Given the description of an element on the screen output the (x, y) to click on. 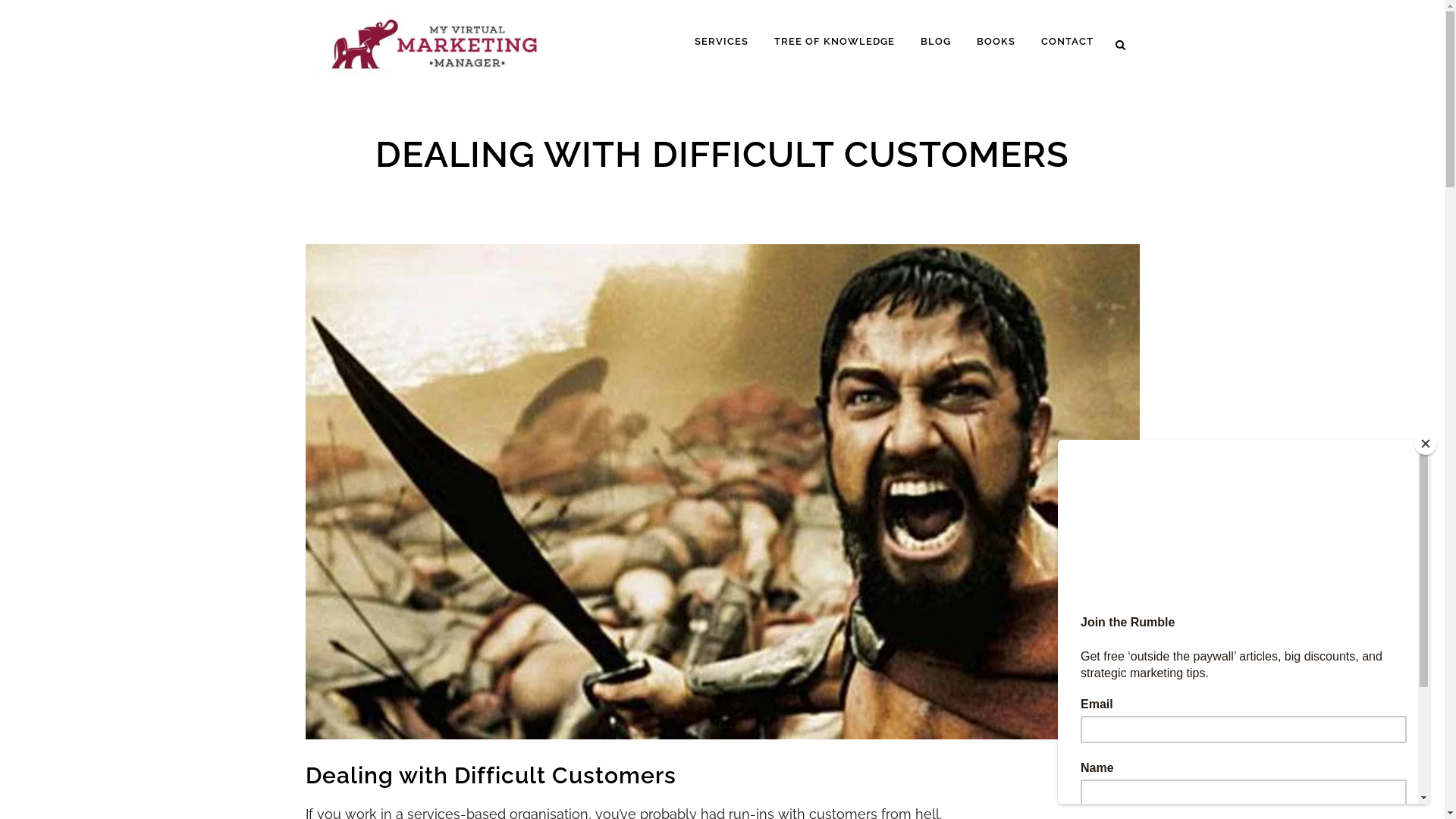
TREE OF KNOWLEDGE Element type: text (834, 41)
SERVICES Element type: text (720, 41)
Angry Customer | My Virtual Marketing Manager Element type: hover (721, 491)
CONTACT Element type: text (1067, 41)
BOOKS Element type: text (995, 41)
BLOG Element type: text (934, 41)
